Given the description of an element on the screen output the (x, y) to click on. 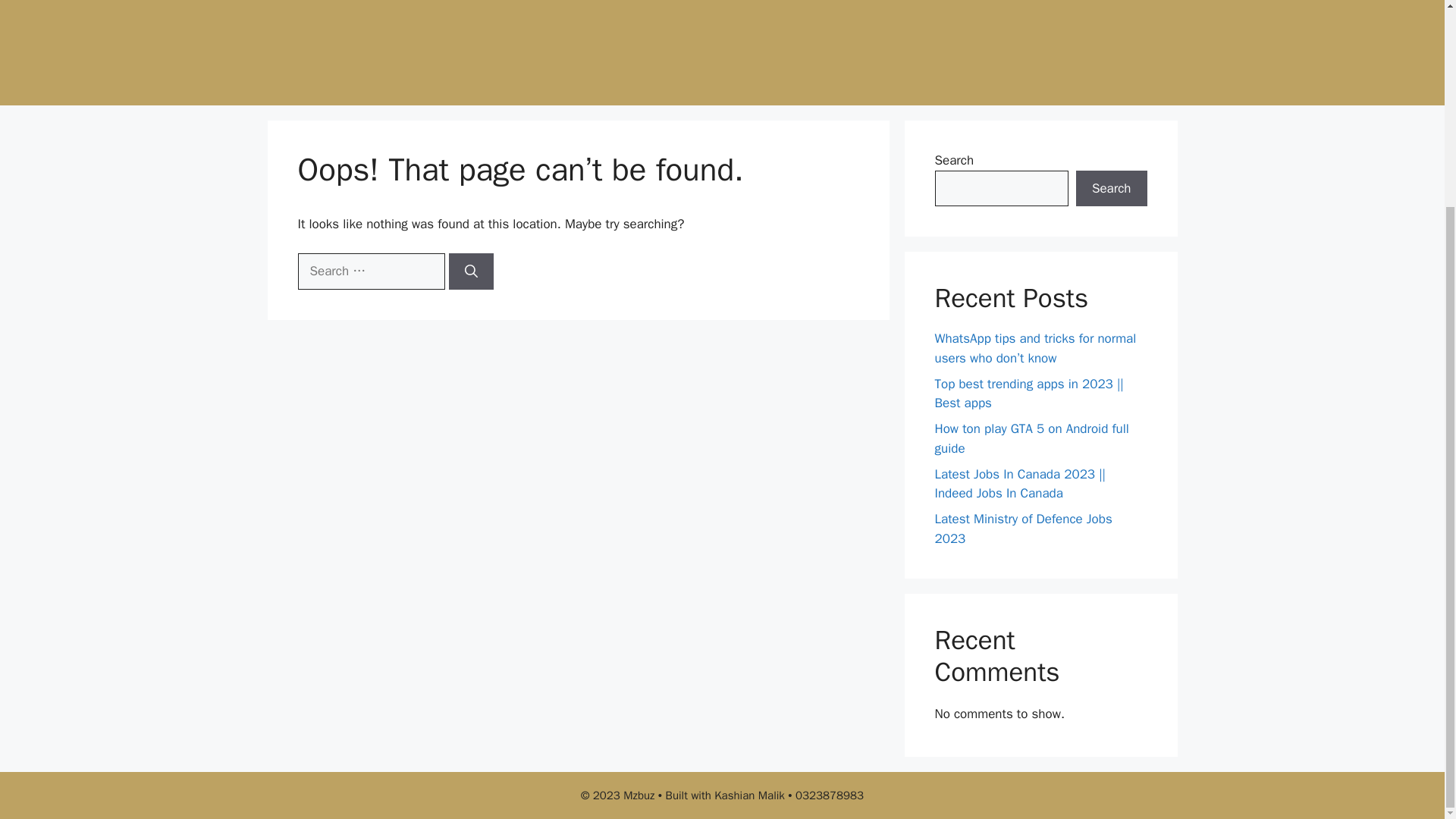
Search (1111, 188)
Search for: (370, 271)
Advertisement (737, 48)
Latest Ministry of Defence Jobs 2023 (1023, 529)
How ton play GTA 5 on Android full guide (1031, 438)
